Given the description of an element on the screen output the (x, y) to click on. 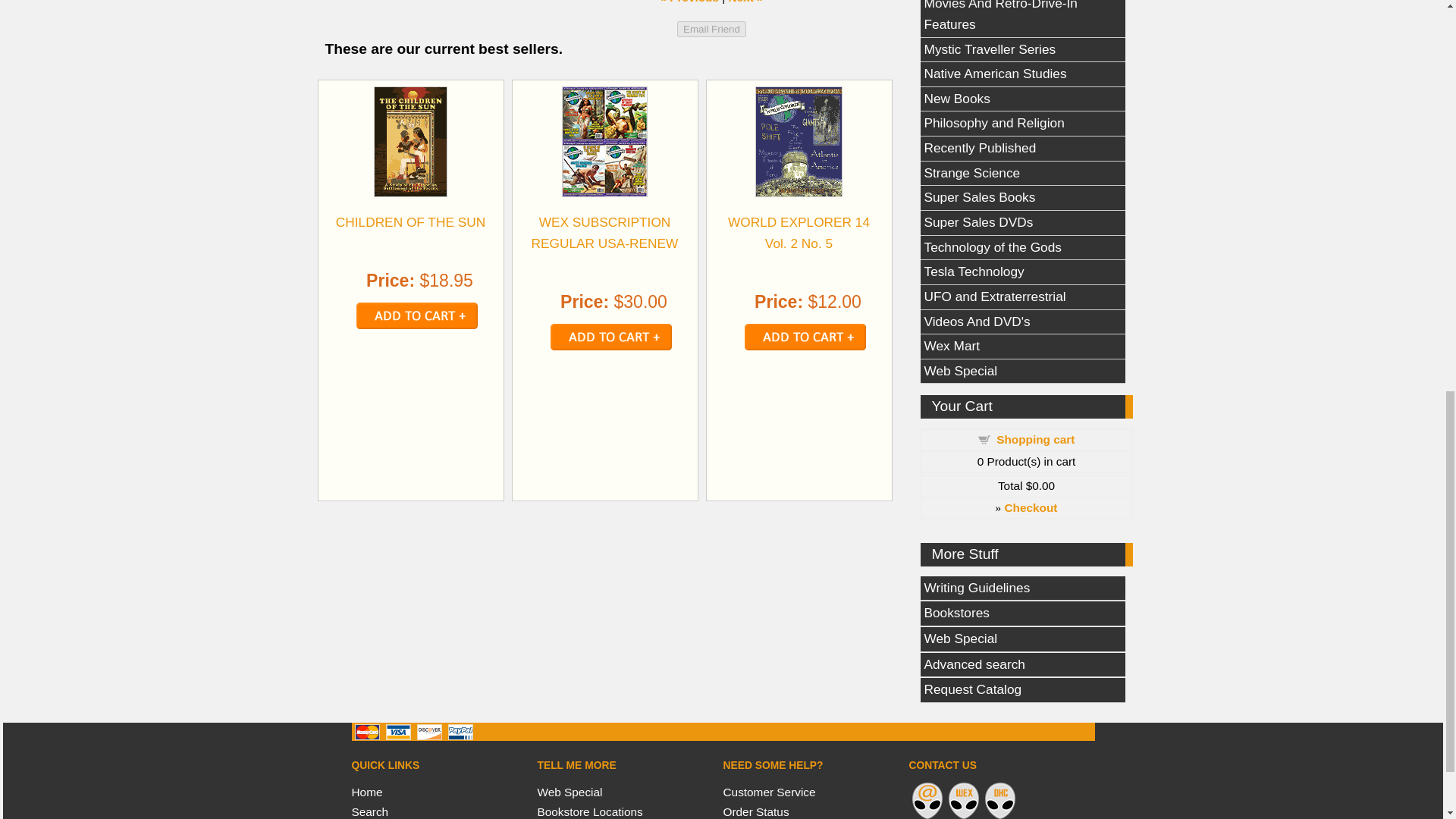
Movies And Retro-Drive-In Features (1022, 18)
Mystic Traveller Series (1022, 50)
New Books (1022, 99)
Native American Studies (1022, 74)
Email Friend (711, 28)
